Given the description of an element on the screen output the (x, y) to click on. 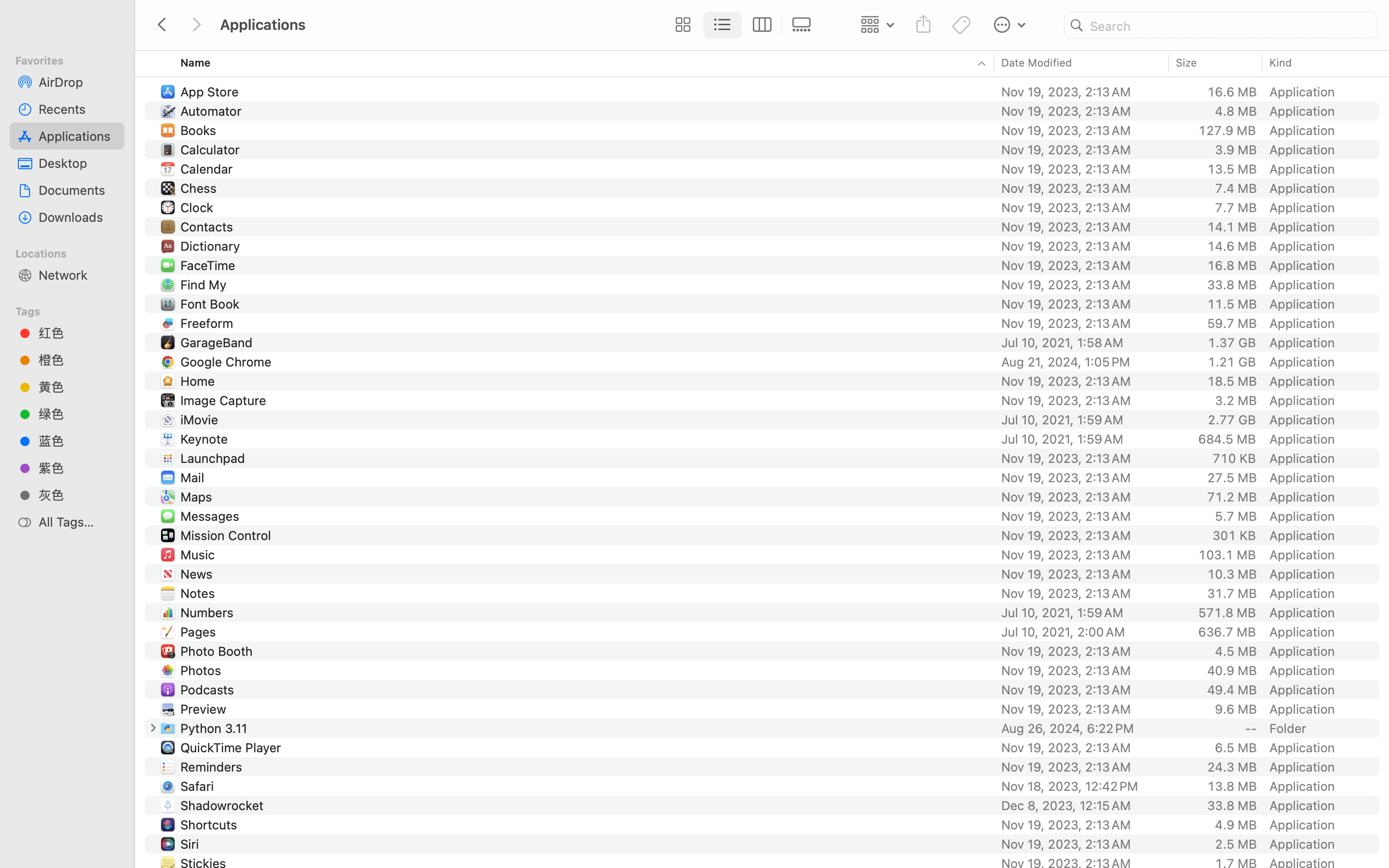
Home Element type: AXTextField (199, 380)
Jul 10, 2021, 1:58 AM Element type: AXStaticText (1081, 342)
Nov 18, 2023, 12:42 PM Element type: AXStaticText (1081, 785)
59.7 MB Element type: AXStaticText (1231, 322)
301 KB Element type: AXStaticText (1233, 534)
